Given the description of an element on the screen output the (x, y) to click on. 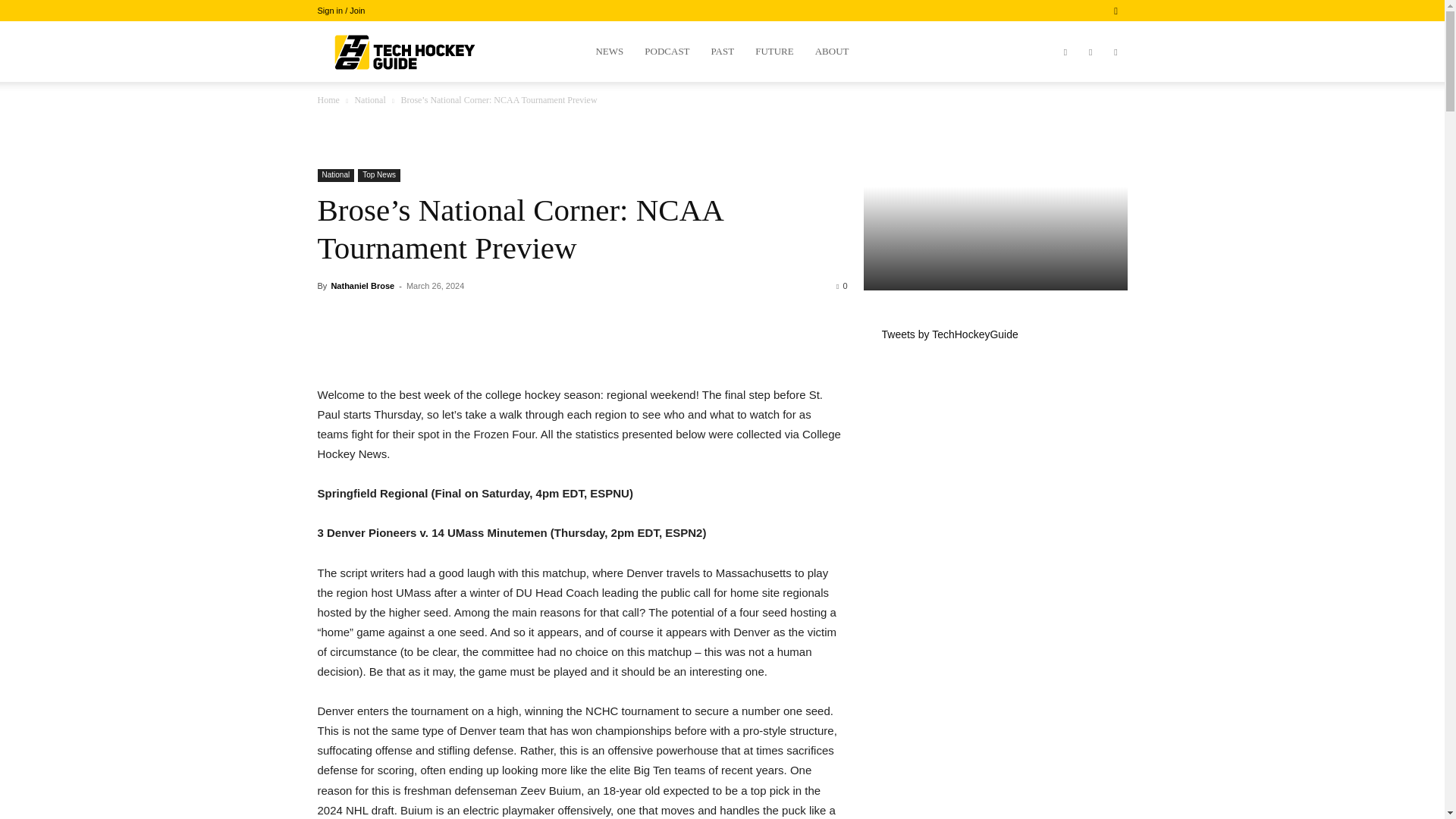
View all posts in National (369, 100)
Search (1085, 64)
